Given the description of an element on the screen output the (x, y) to click on. 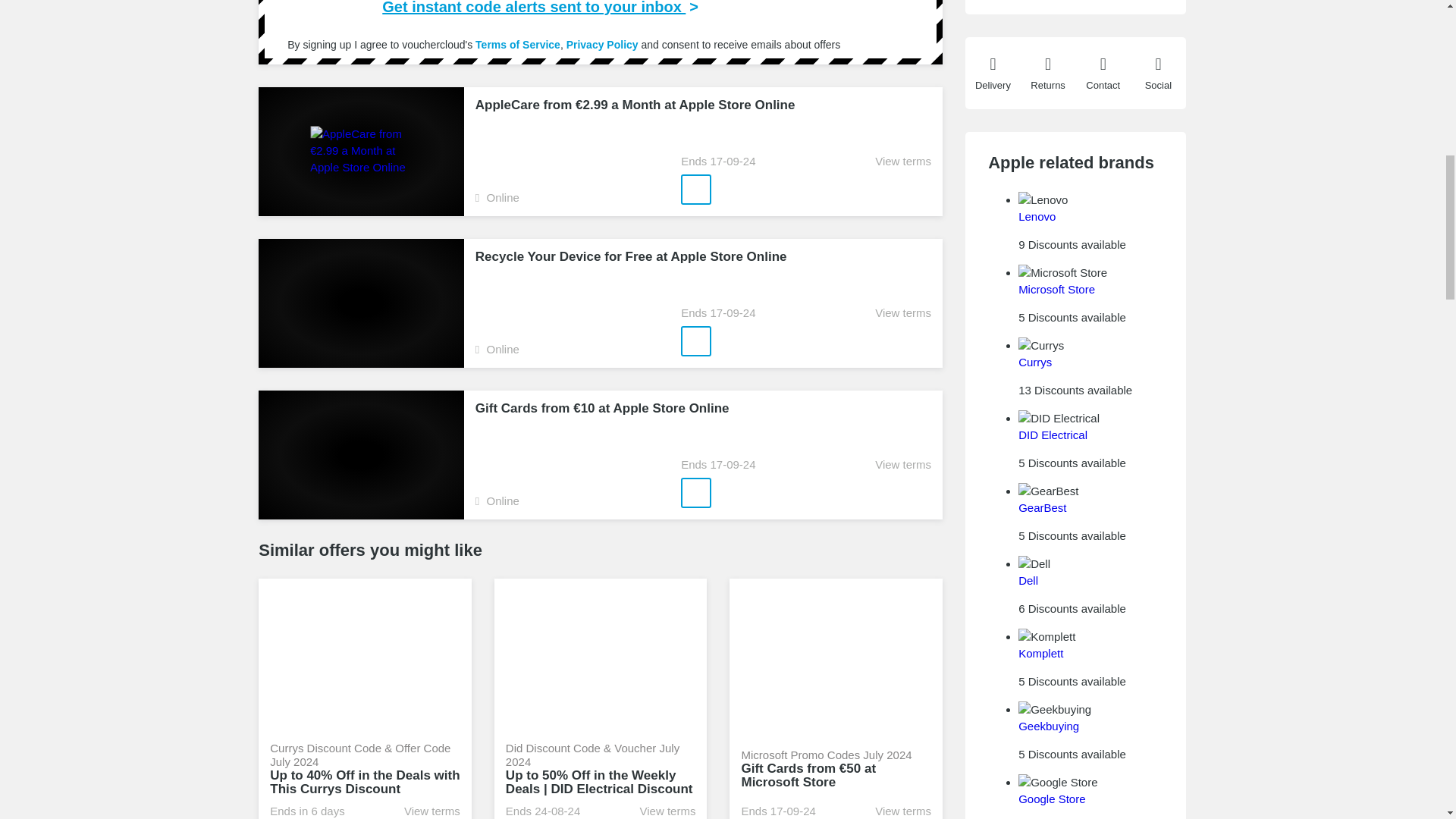
Lenovo (1036, 215)
